Given the description of an element on the screen output the (x, y) to click on. 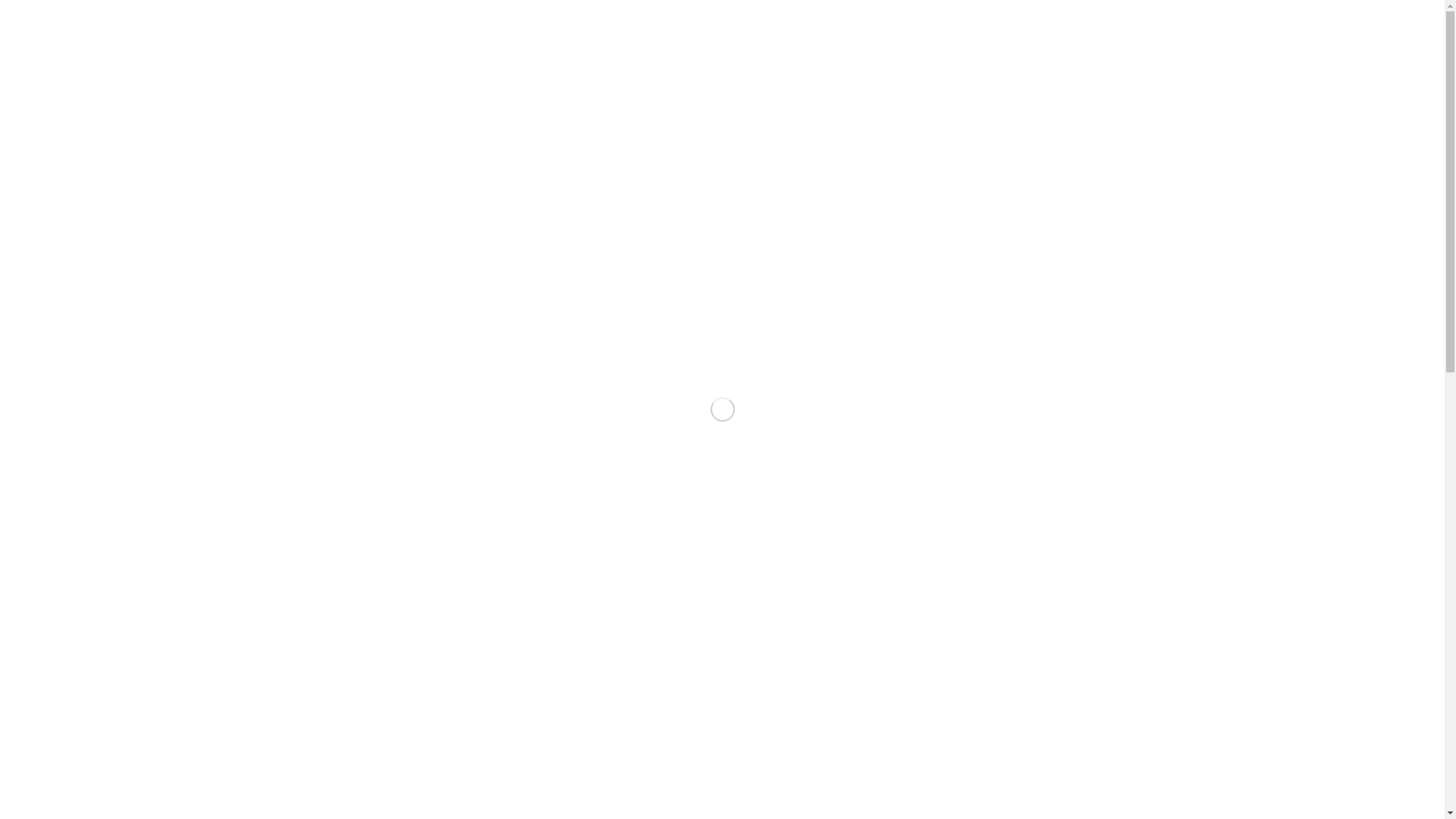
BASE Element type: hover (1318, 29)
